Given the description of an element on the screen output the (x, y) to click on. 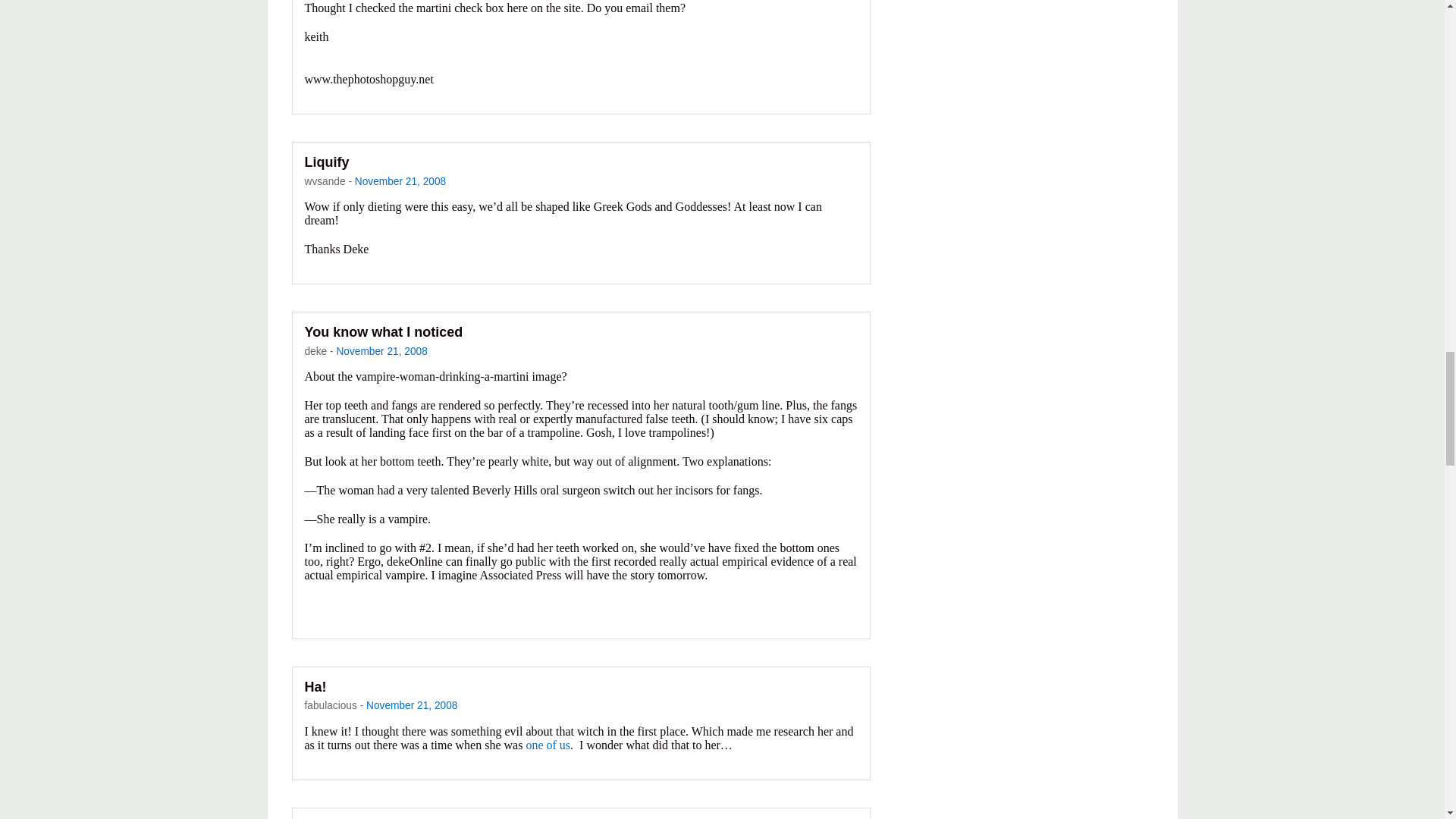
November 21, 2008 (400, 181)
November 21, 2008 (381, 351)
one of us (547, 744)
November 21, 2008 (411, 705)
